Given the description of an element on the screen output the (x, y) to click on. 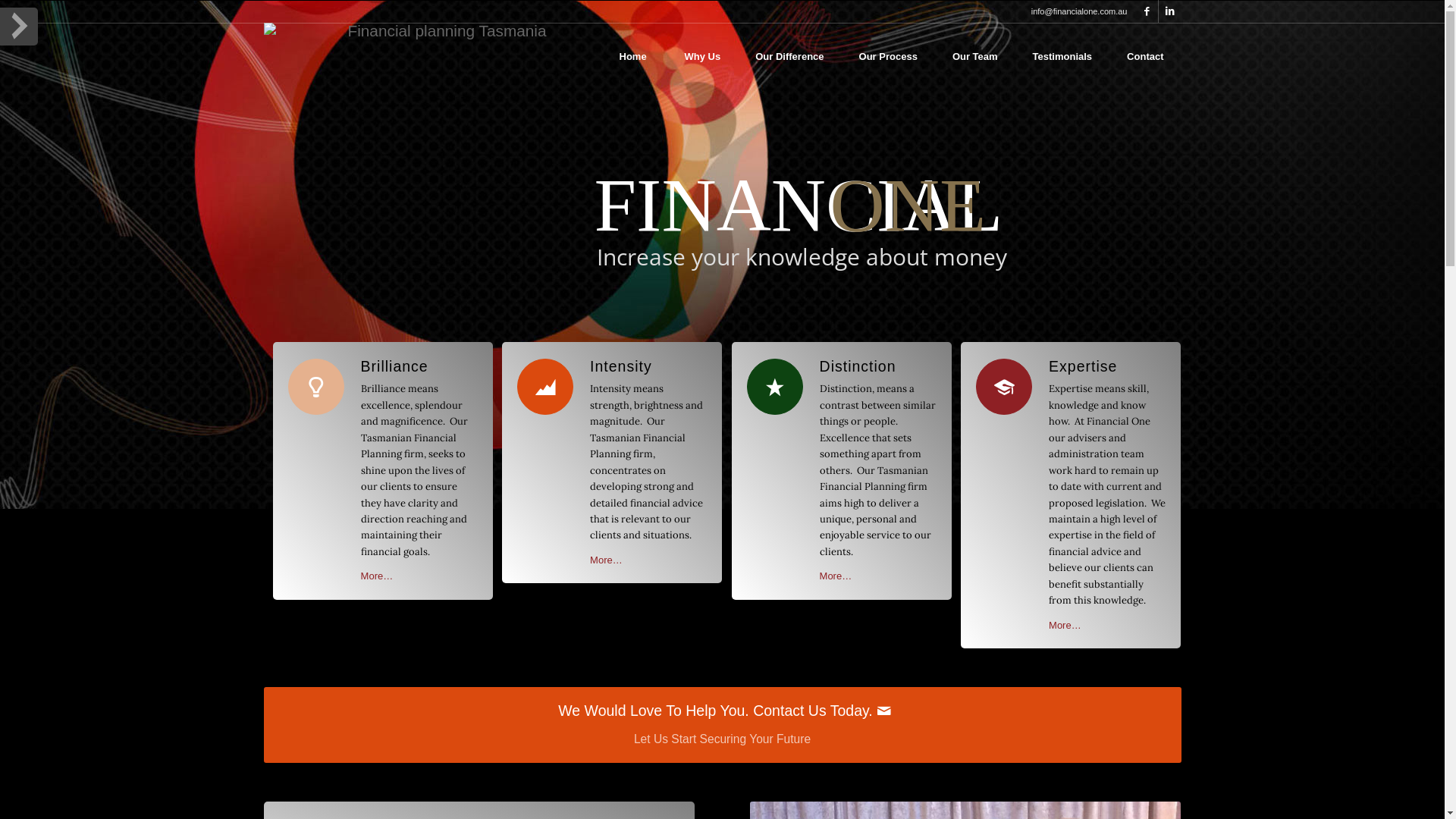
Our Process Element type: text (888, 56)
Testimonials Element type: text (1062, 56)
Facebook Element type: hover (1146, 11)
Contact Element type: text (1144, 56)
Why Us Element type: text (702, 56)
Our Team Element type: text (975, 56)
Linkedin Element type: hover (1169, 11)
info@financialone.com.au Element type: text (1079, 10)
Our Difference Element type: text (788, 56)
Home Element type: text (633, 56)
